Given the description of an element on the screen output the (x, y) to click on. 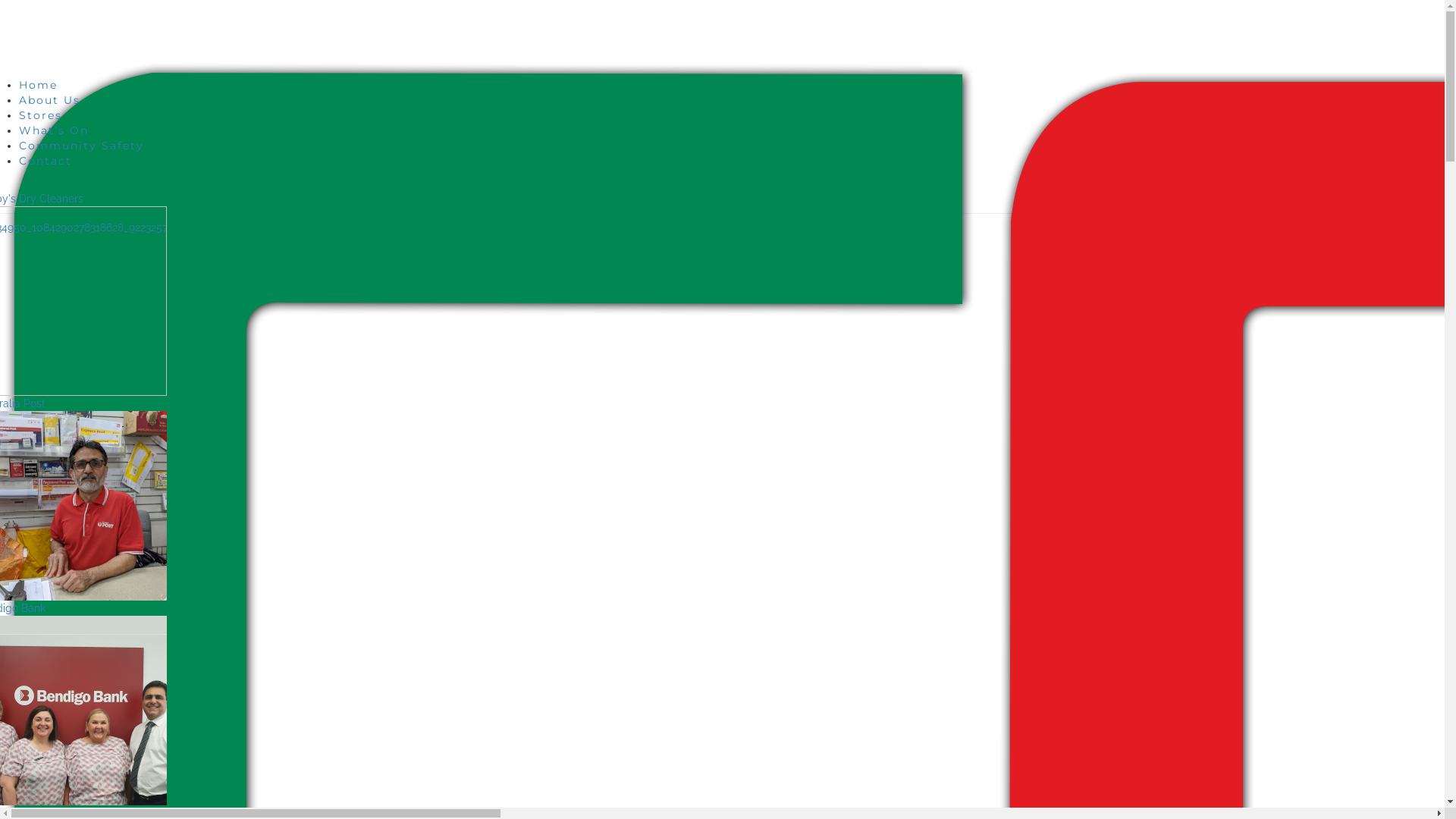
Home Element type: text (37, 84)
Community Safety Element type: text (81, 144)
About Us Element type: text (49, 99)
Contact Element type: text (45, 159)
Stores Element type: text (40, 114)
